Given the description of an element on the screen output the (x, y) to click on. 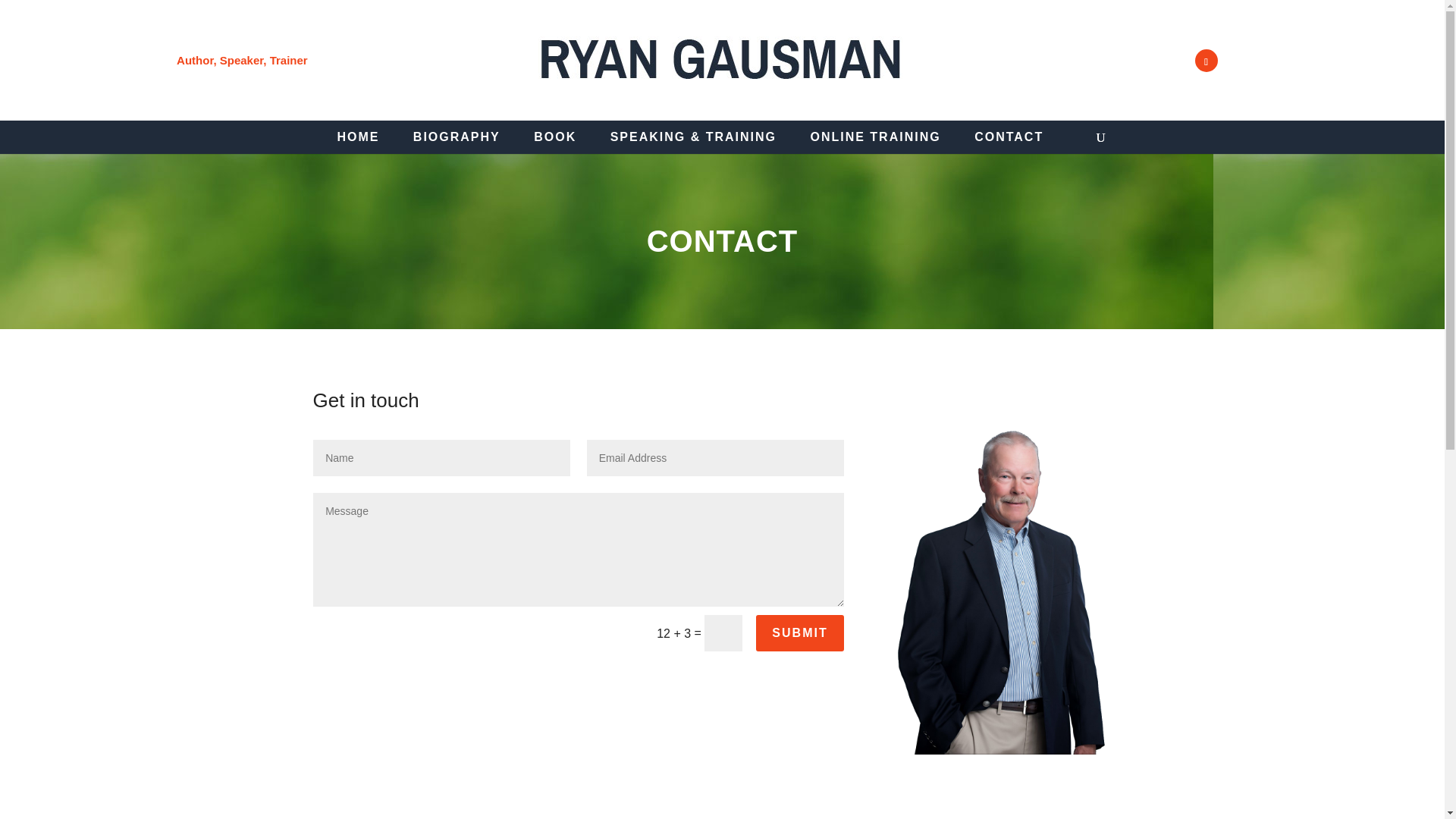
SUBMIT (799, 633)
BIOGRAPHY (456, 136)
BOOK (555, 136)
HOME (357, 136)
CONTACT (1008, 136)
ONLINE TRAINING (874, 136)
